Given the description of an element on the screen output the (x, y) to click on. 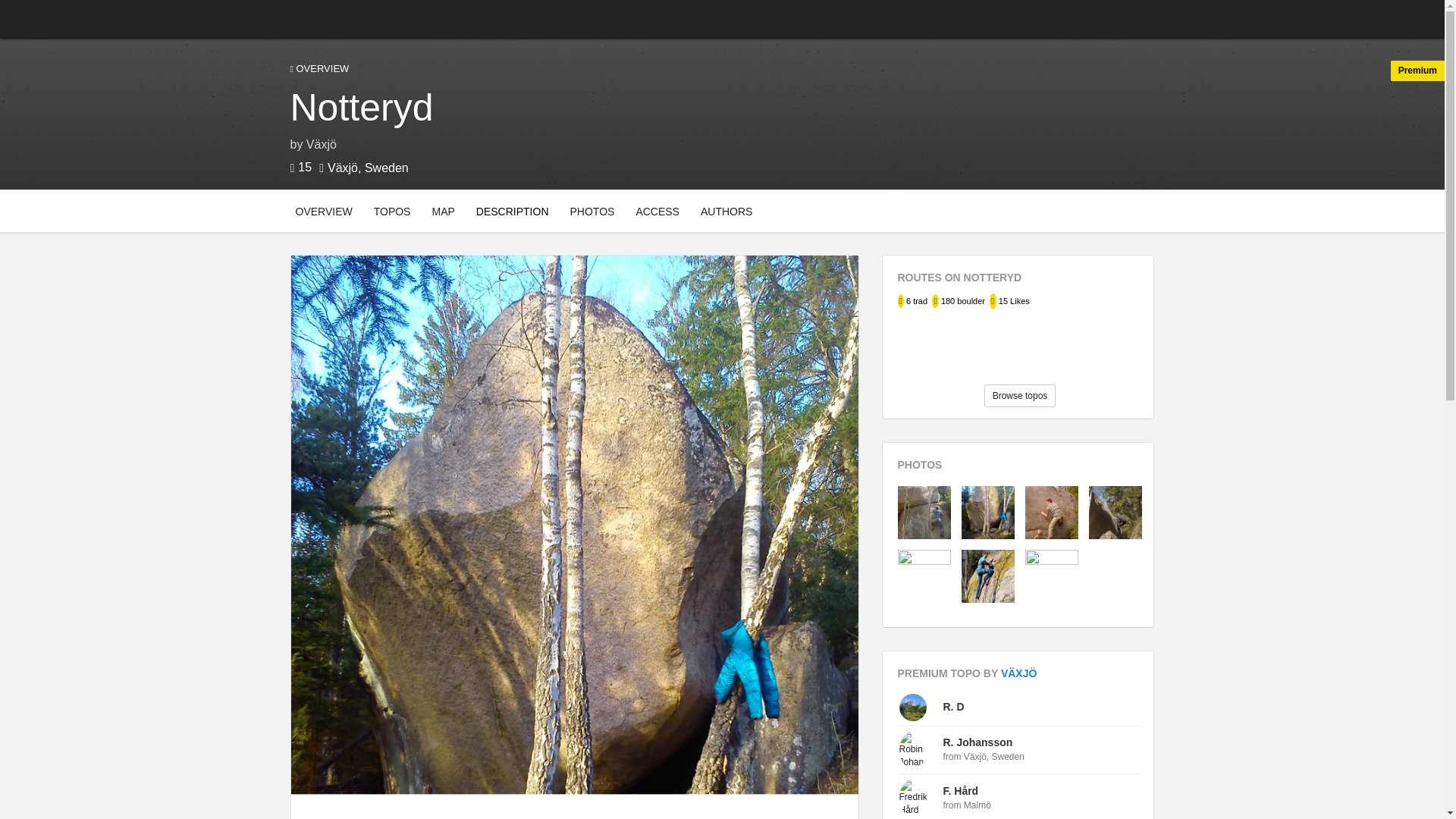
Notteryd (360, 107)
TOPOS (391, 210)
PHOTOS (593, 210)
TOPOS (392, 210)
DESCRIPTION (512, 210)
OVERVIEW (323, 210)
R. Johansson (978, 742)
Notteryd (721, 107)
OVERVIEW (721, 69)
Browse topos (1020, 395)
AUTHORS (525, 210)
AUTHORS (726, 210)
R. D (726, 210)
DESCRIPTION (953, 706)
